Given the description of an element on the screen output the (x, y) to click on. 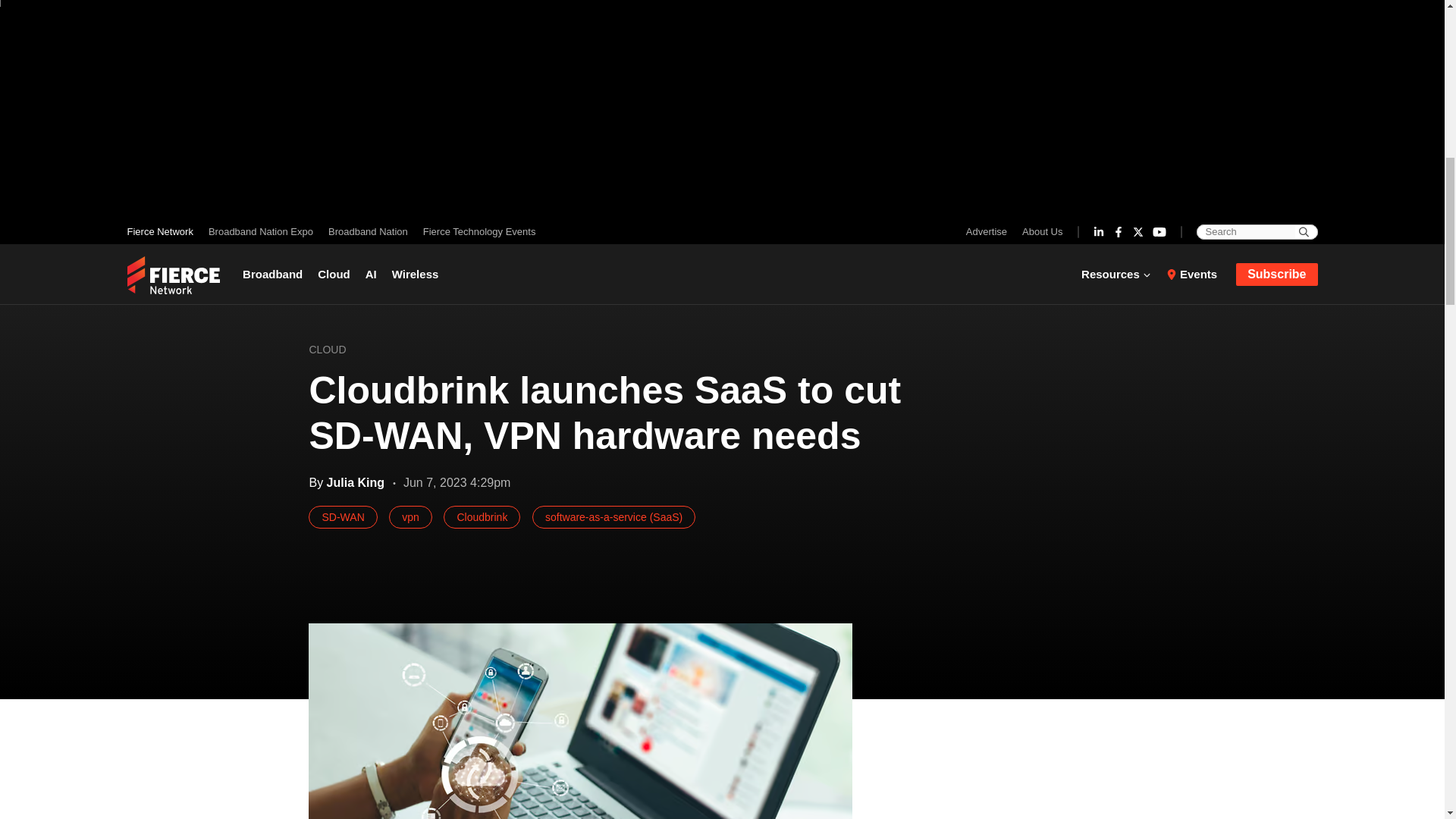
Fierce Network (164, 231)
Wireless (415, 274)
AI (371, 274)
Resources (1119, 274)
Broadband Nation Expo (260, 231)
Broadband (276, 274)
Cloud (334, 274)
Fierce Technology Events (474, 231)
Broadband Nation (367, 231)
Subscribe (1276, 273)
About Us (1038, 231)
Advertise (990, 231)
